Given the description of an element on the screen output the (x, y) to click on. 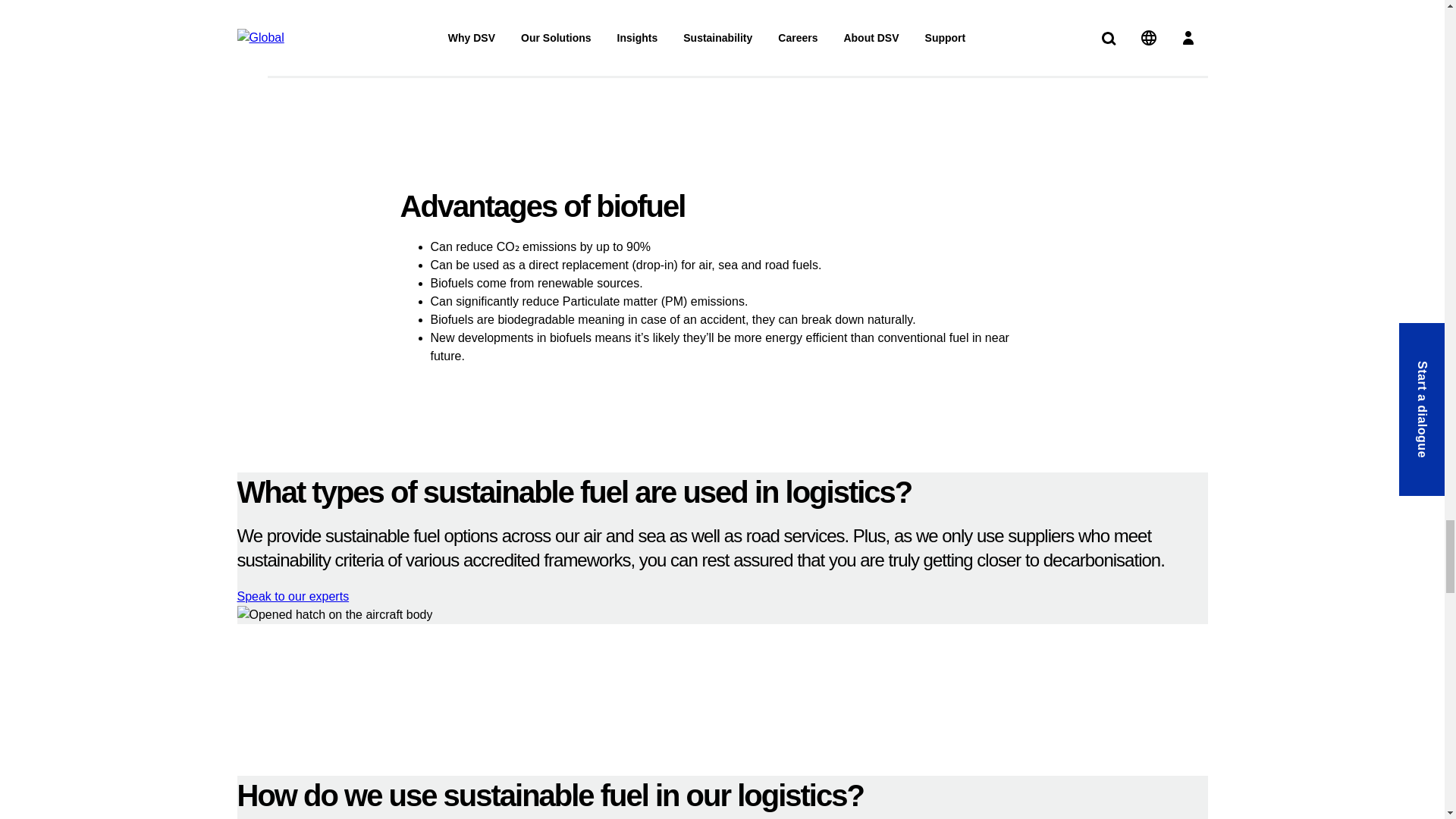
Number 5 (736, 18)
